Given the description of an element on the screen output the (x, y) to click on. 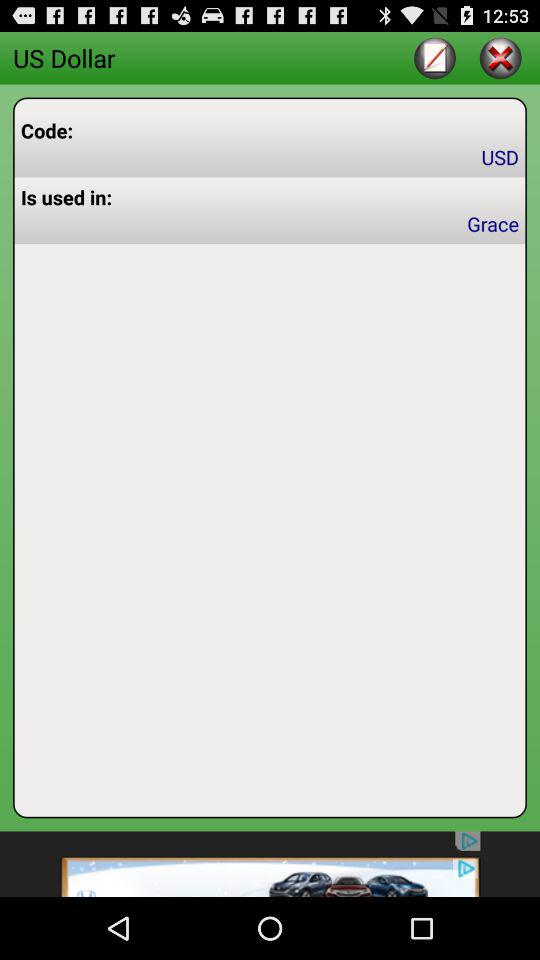
make a new submission (434, 57)
